Given the description of an element on the screen output the (x, y) to click on. 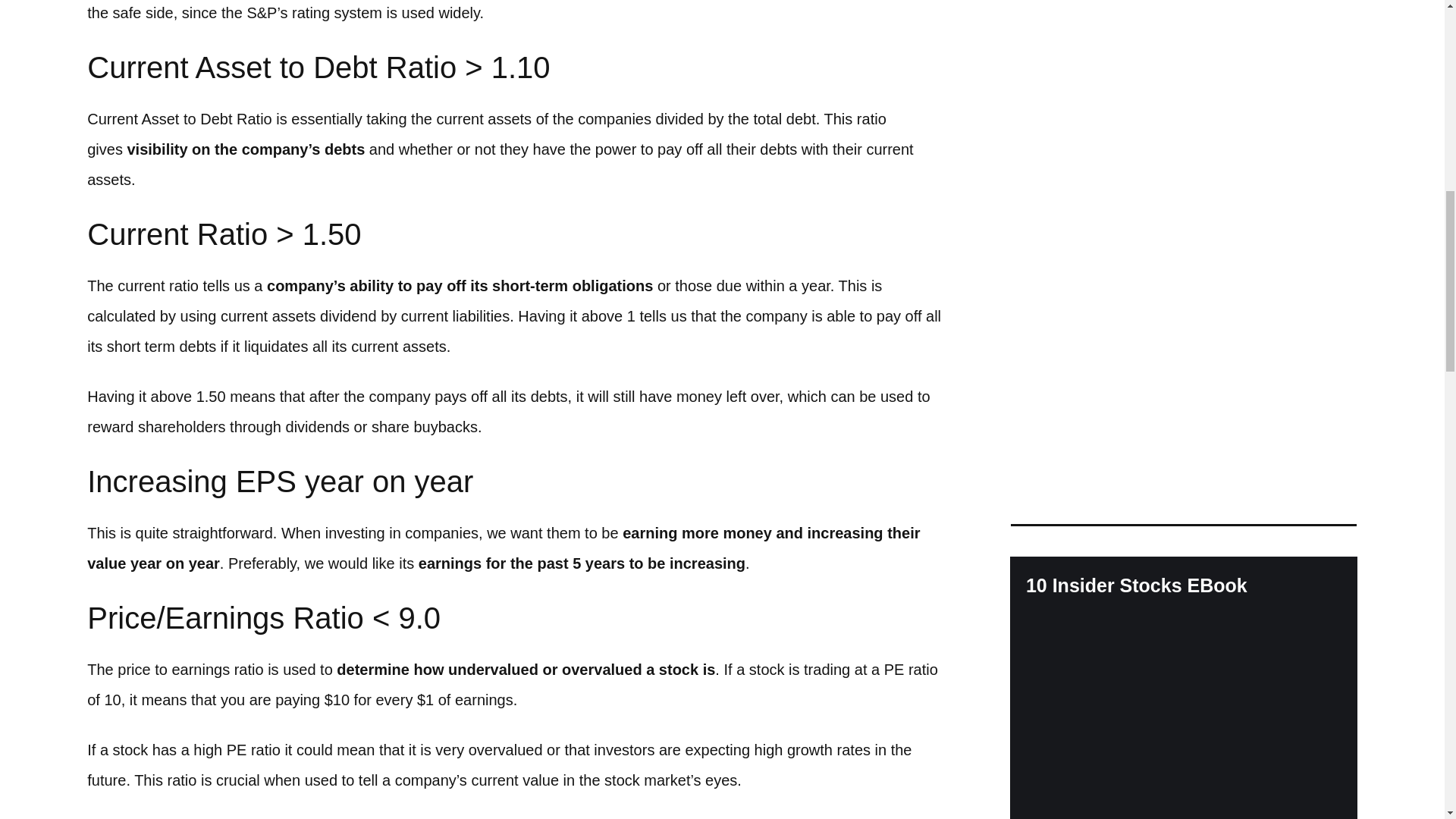
Responsive Video (1184, 34)
10 Insider Stocks Final (1183, 717)
Responsive Video (1184, 395)
Responsive Video (1184, 183)
